Given the description of an element on the screen output the (x, y) to click on. 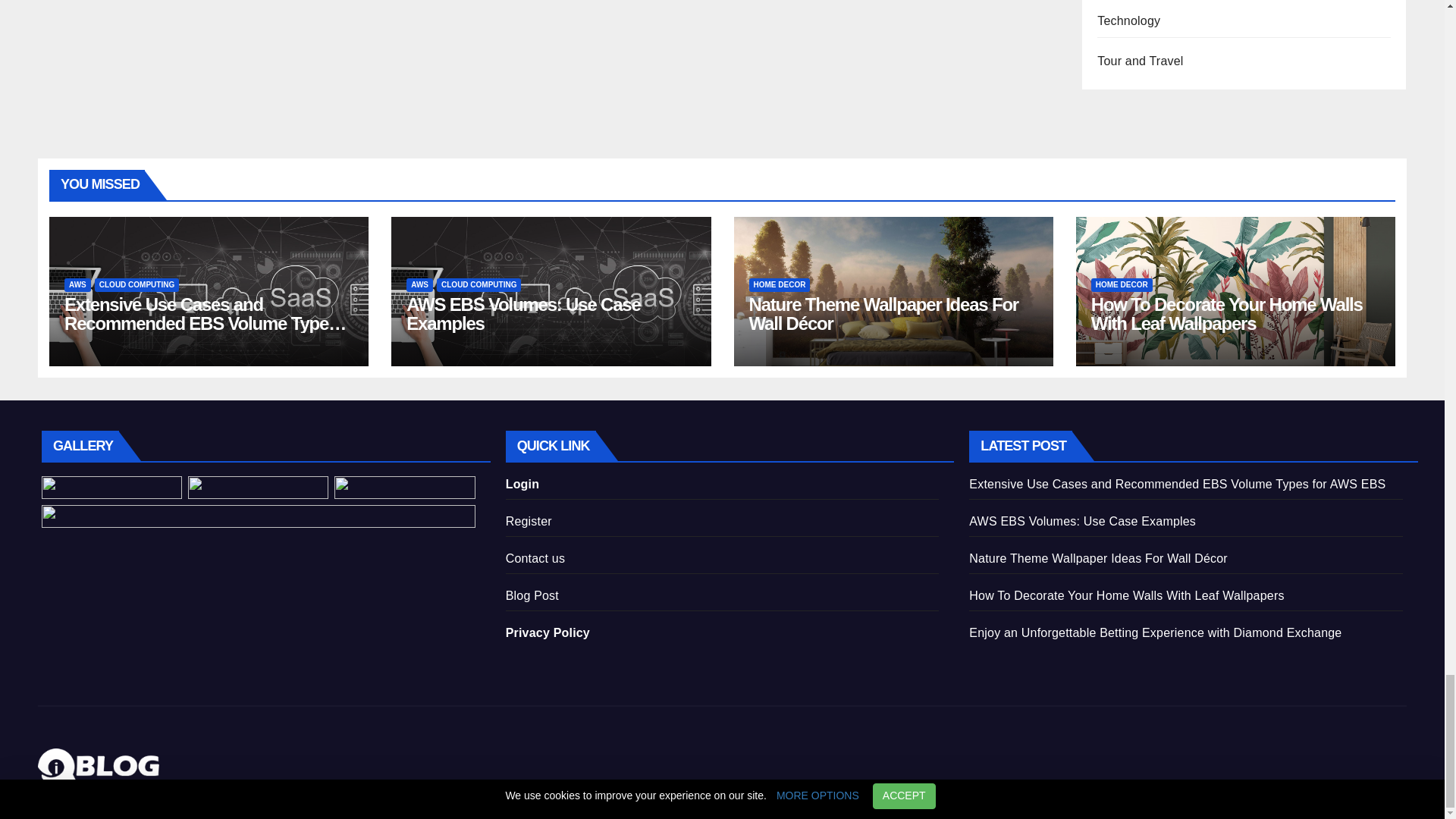
Permalink to: AWS EBS Volumes: Use Case Examples (523, 313)
